Given the description of an element on the screen output the (x, y) to click on. 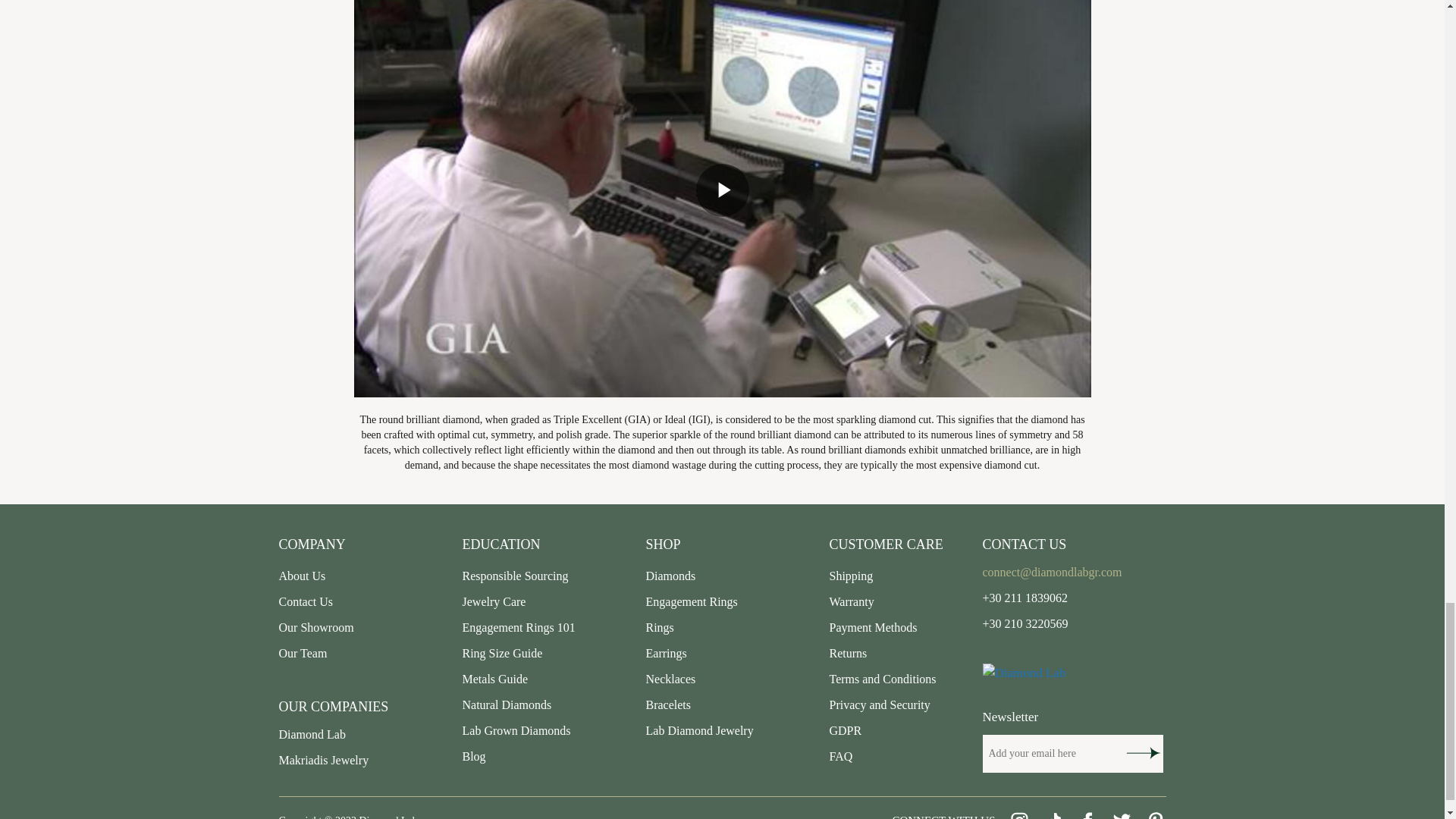
Instagram (1019, 815)
Call Us (1025, 623)
Email Us (1052, 571)
Call Us (1024, 597)
